Given the description of an element on the screen output the (x, y) to click on. 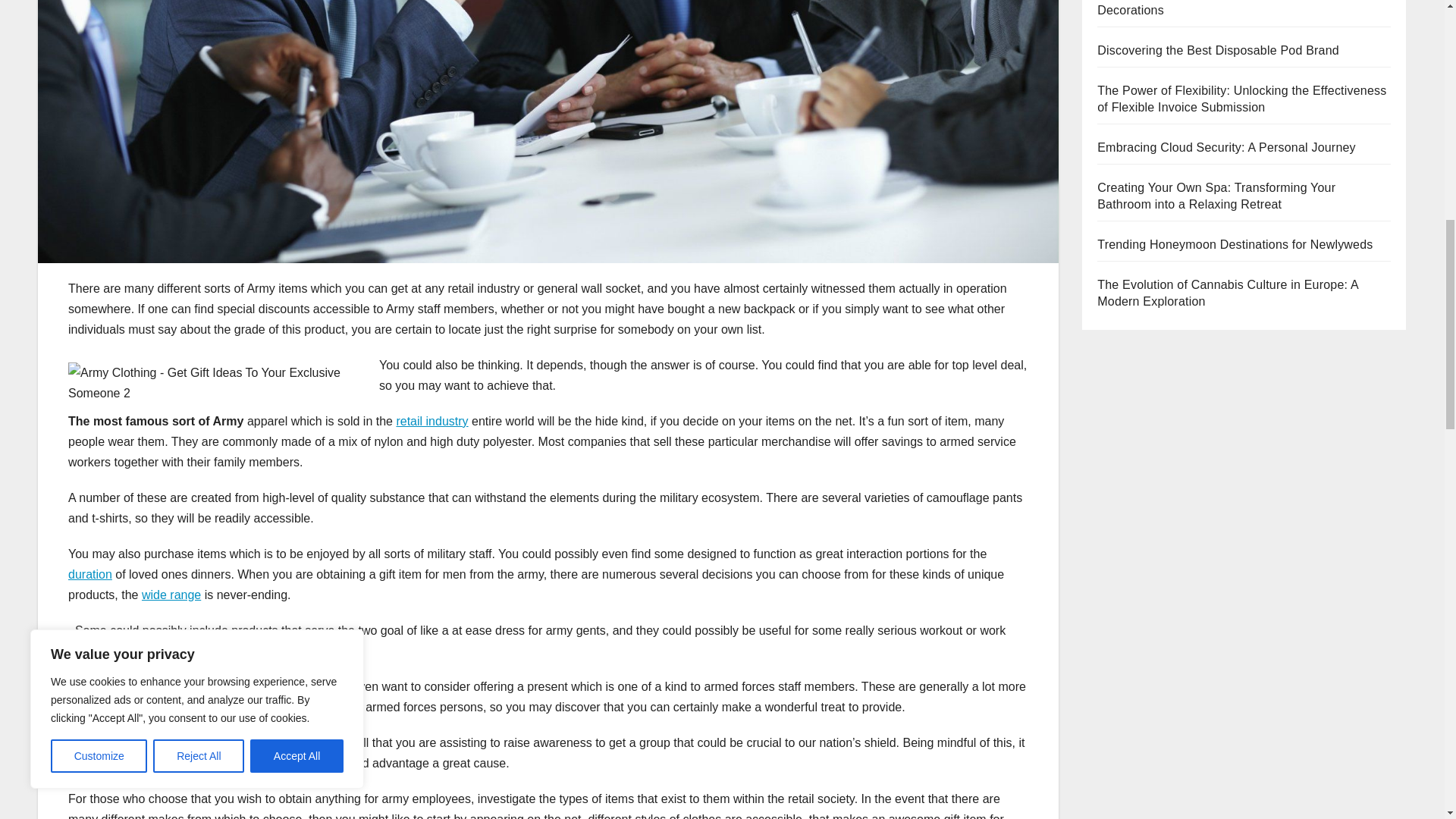
wide range (170, 594)
retail industry (431, 420)
duration (90, 574)
